Given the description of an element on the screen output the (x, y) to click on. 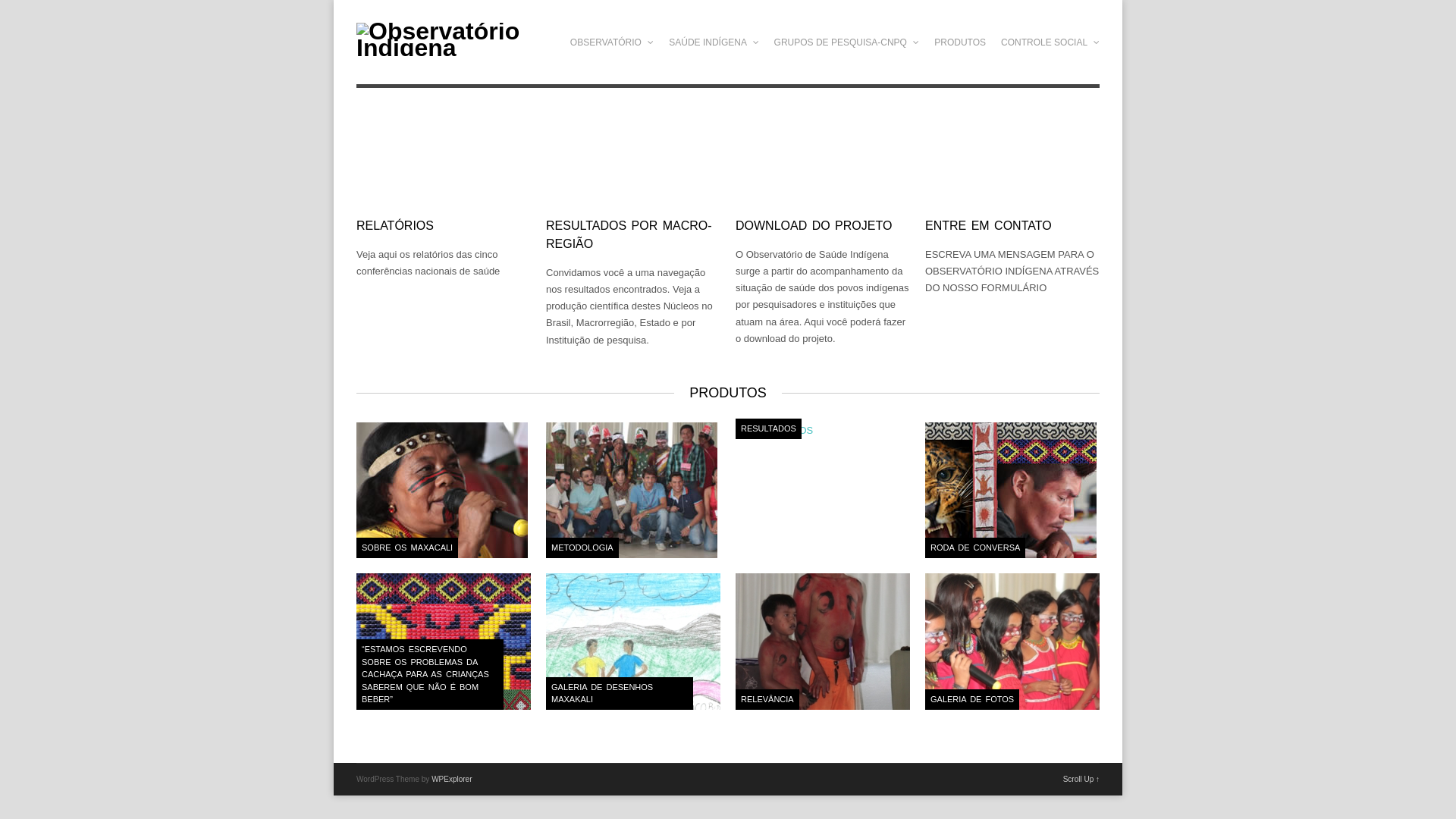
GALERIA DE DESENHOS MAXAKALI Element type: text (633, 641)
WPExplorer Element type: text (451, 779)
DOWNLOAD DO PROJETO Element type: text (822, 225)
RODA DE CONVERSA Element type: text (1012, 490)
PRODUTOS Element type: text (959, 42)
ENTRE EM CONTATO Element type: text (1012, 225)
METODOLOGIA Element type: text (633, 490)
GRUPOS DE PESQUISA-CNPQ Element type: text (846, 42)
SOBRE OS MAXACALI Element type: text (443, 490)
RESULTADOS Element type: text (822, 430)
GALERIA DE FOTOS Element type: text (1012, 641)
CONTROLE SOCIAL Element type: text (1050, 42)
